Given the description of an element on the screen output the (x, y) to click on. 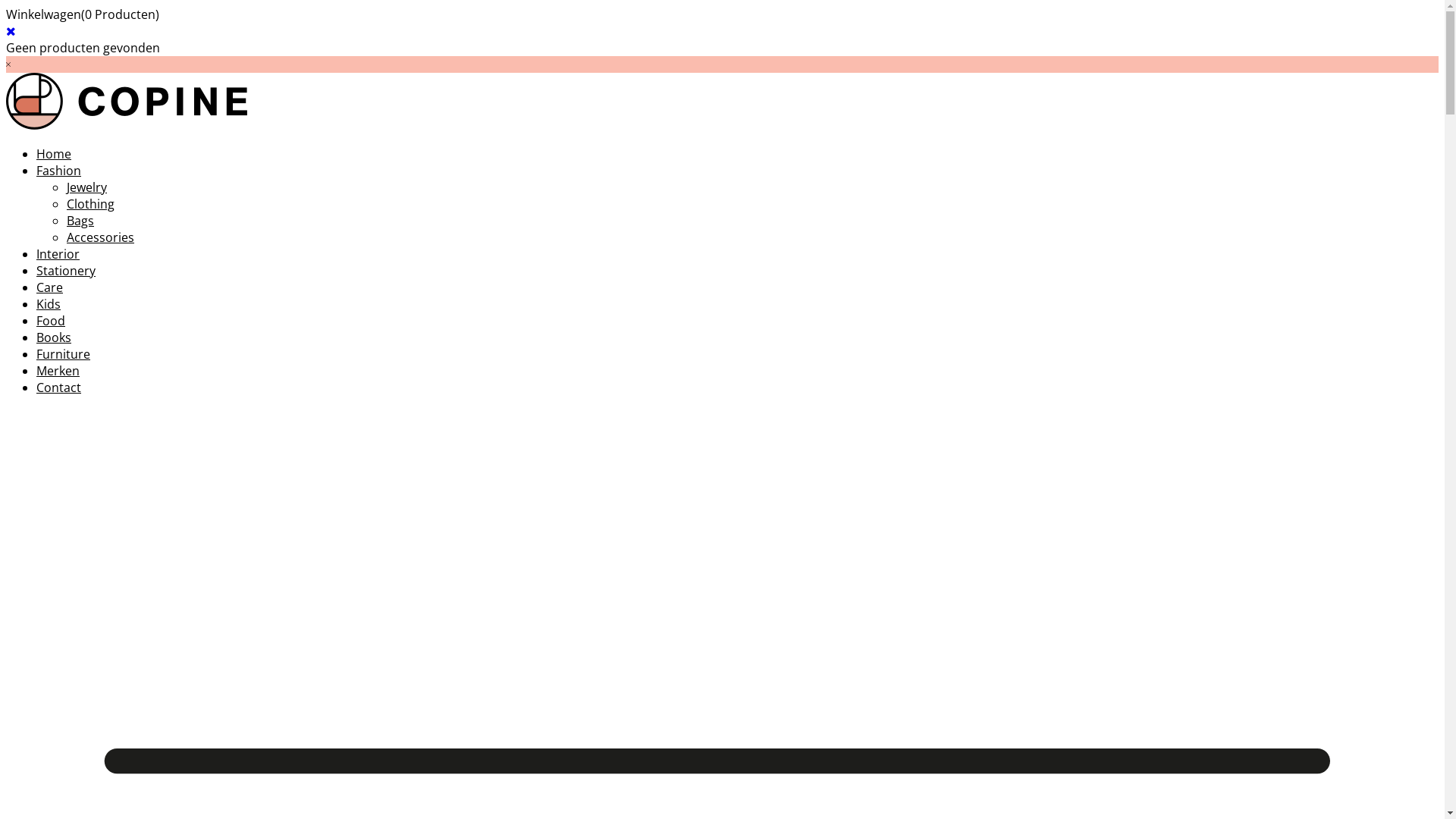
Fashion Element type: text (58, 170)
Clothing Element type: text (90, 203)
Stationery Element type: text (65, 270)
Furniture Element type: text (63, 353)
Merken Element type: text (57, 370)
Interior Element type: text (57, 253)
Contact Element type: text (58, 387)
Home Element type: text (53, 153)
Food Element type: text (50, 320)
Kids Element type: text (48, 303)
Bags Element type: text (80, 220)
Accessories Element type: text (100, 237)
Books Element type: text (53, 337)
Jewelry Element type: text (86, 186)
Care Element type: text (49, 287)
